Given the description of an element on the screen output the (x, y) to click on. 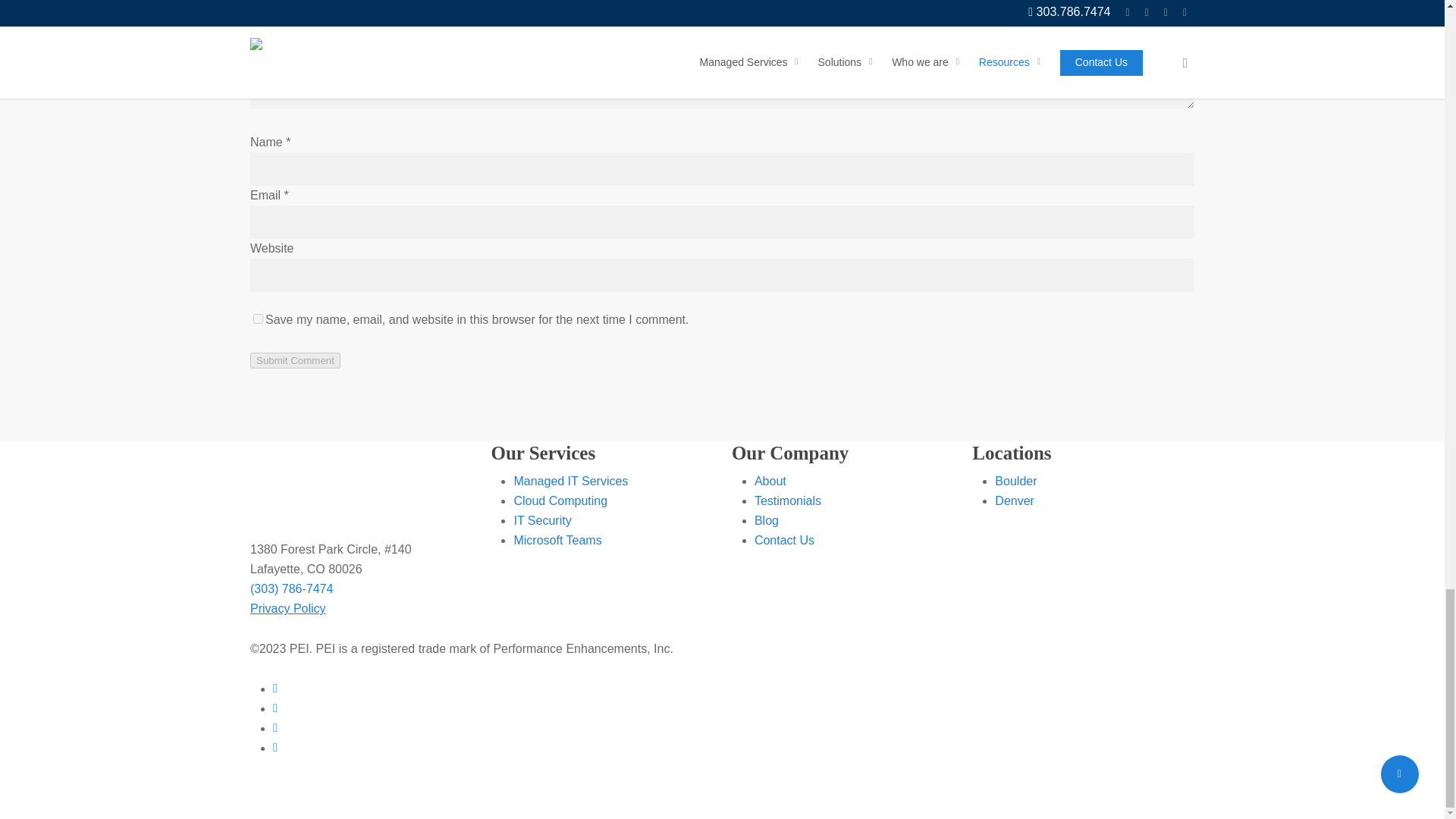
Submit Comment (295, 360)
yes (258, 318)
